Given the description of an element on the screen output the (x, y) to click on. 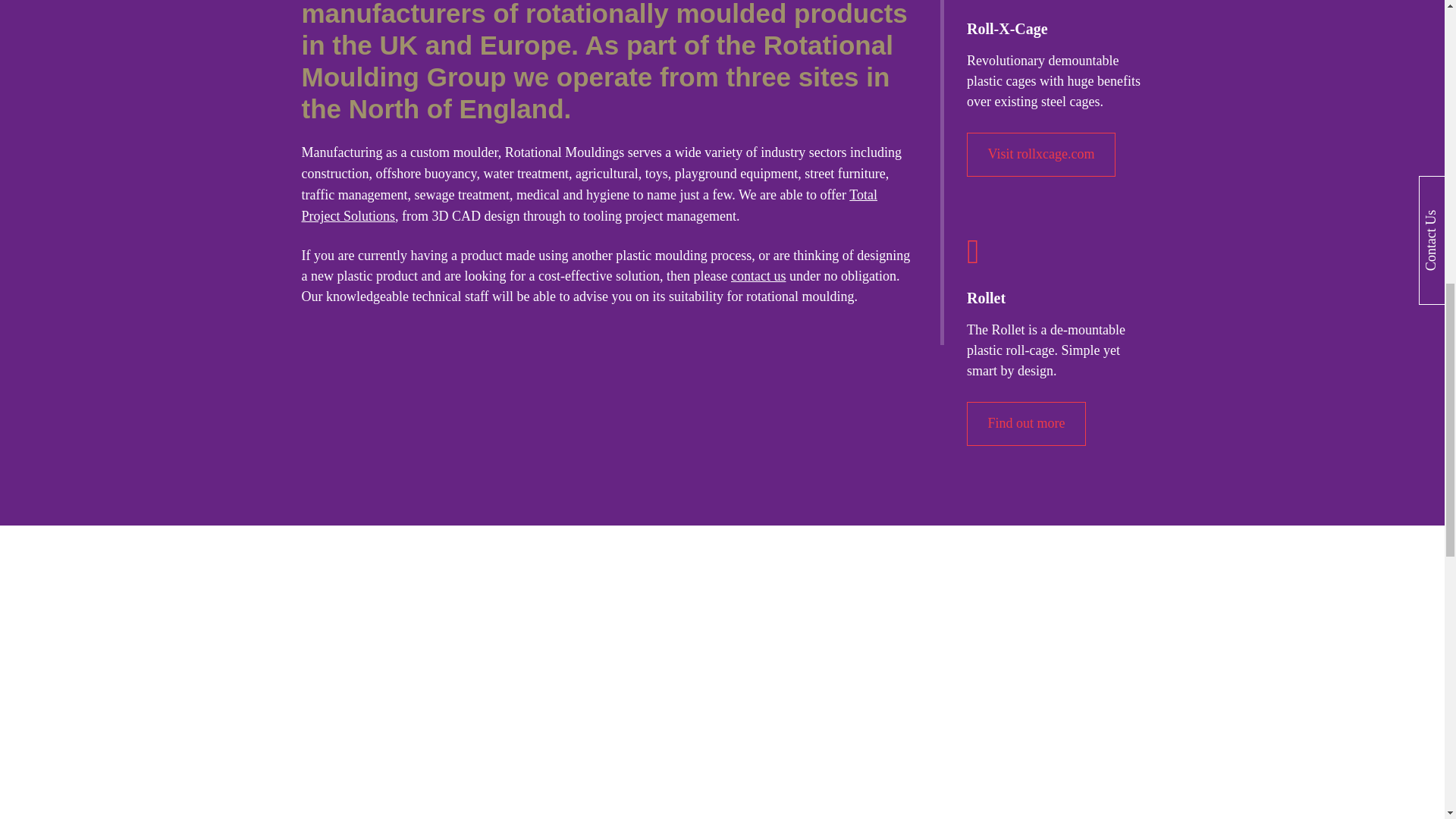
contact us (758, 275)
Visit rollxcage.com (1040, 153)
Find out more (1026, 424)
Total Project Solutions (589, 205)
